Given the description of an element on the screen output the (x, y) to click on. 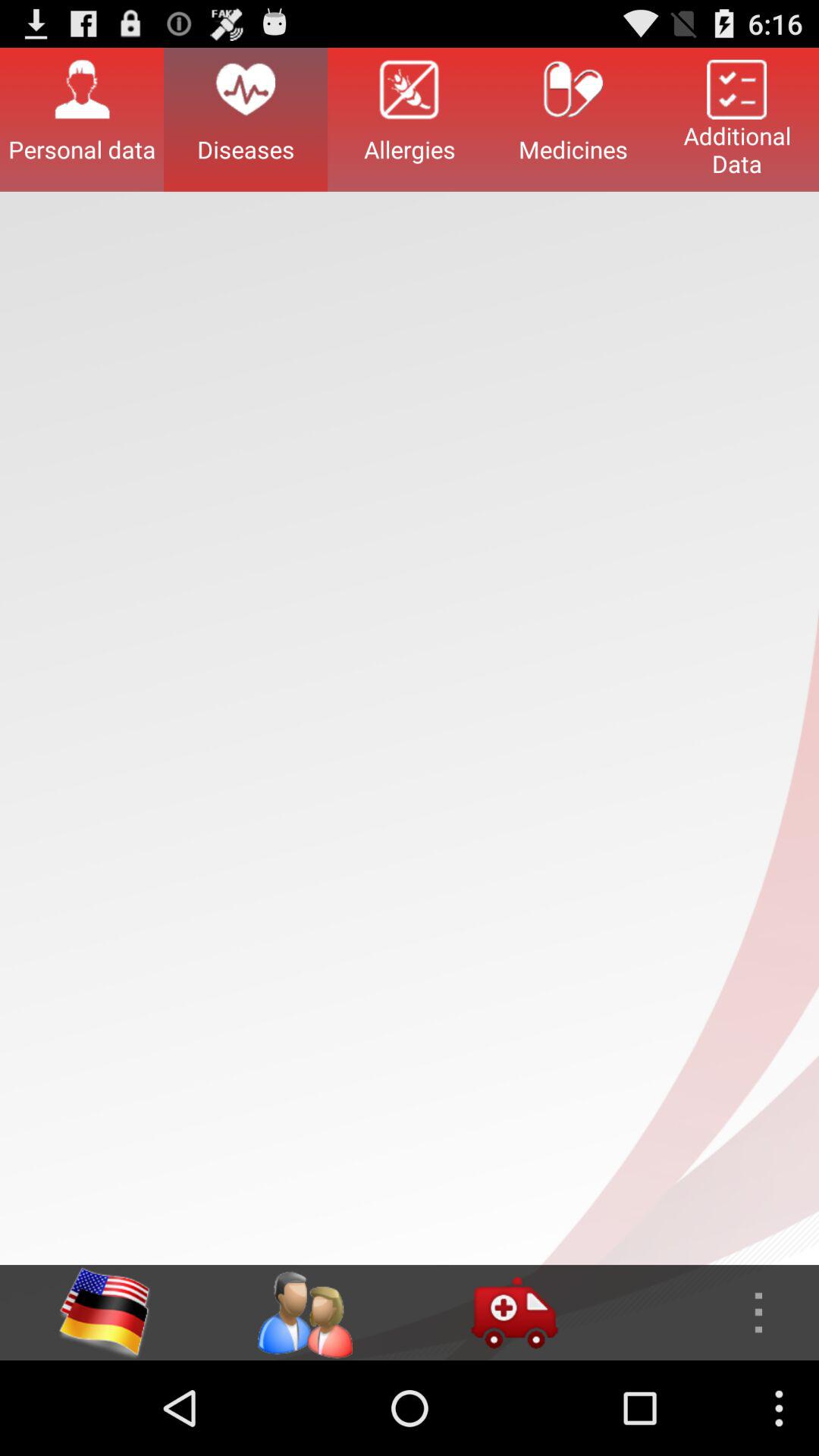
open the additional data button (737, 119)
